Given the description of an element on the screen output the (x, y) to click on. 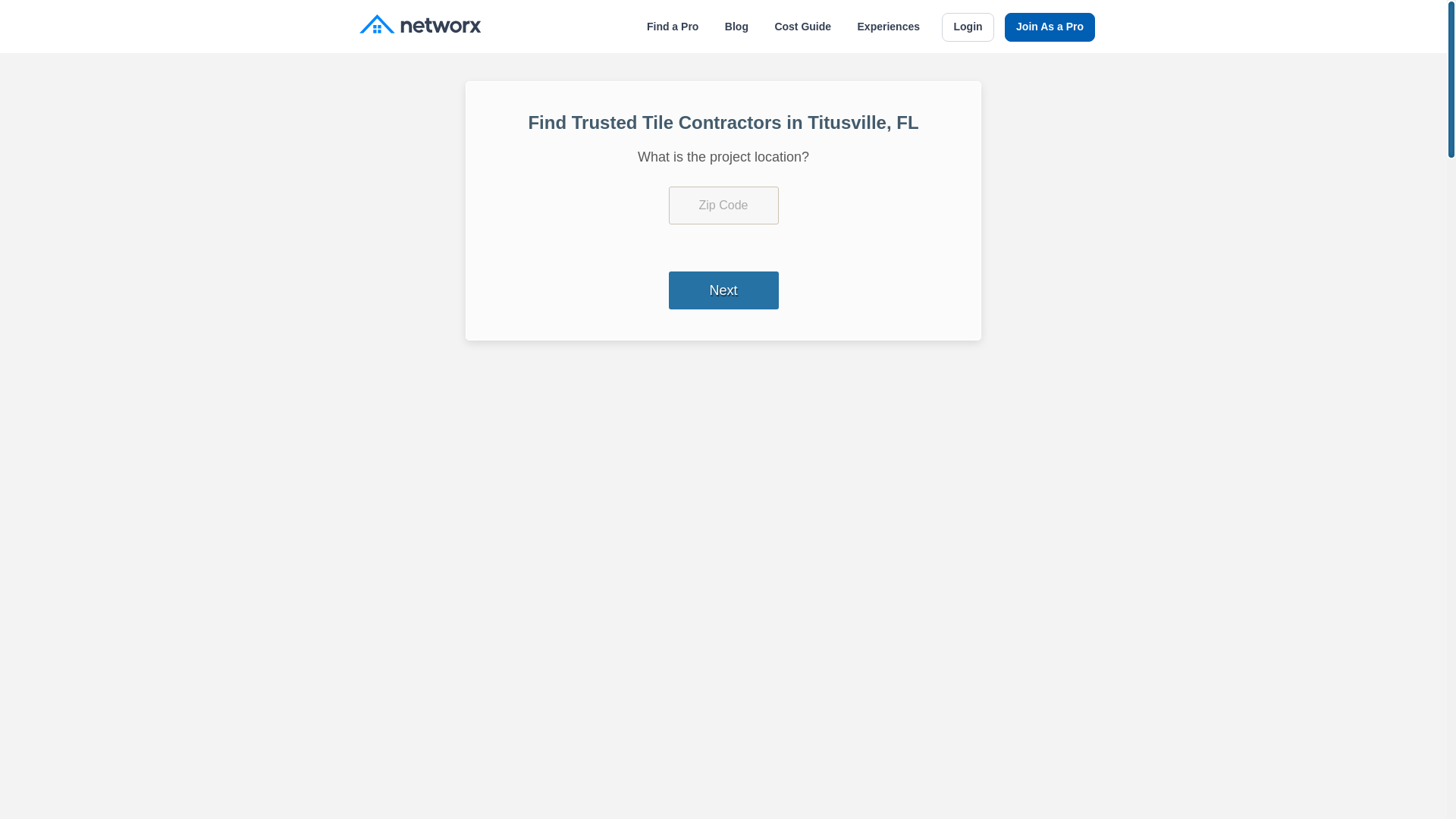
Find a Pro (672, 26)
Login (967, 27)
Networx (419, 25)
Join As a Pro (1049, 27)
Cost Guide (802, 26)
Next (723, 290)
Please enter a valid zip code (723, 205)
Experiences (888, 26)
